Given the description of an element on the screen output the (x, y) to click on. 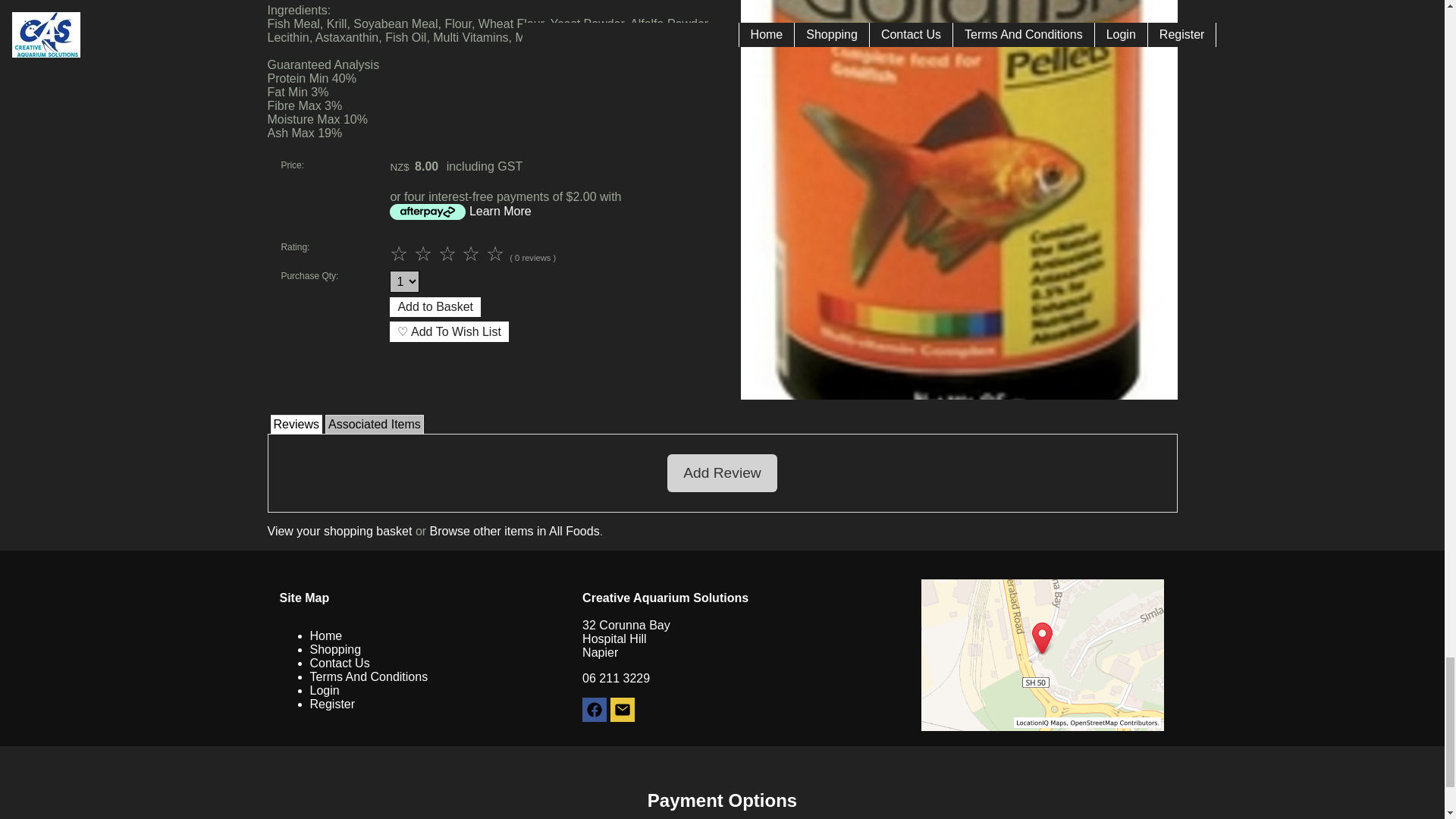
Aqua One Goldfish Pellet Food 2mm 85g (957, 395)
Submit Product Review (449, 253)
32 Corunna Bay ,Hospital Hill Napier  ,New Zealand (1042, 655)
Add to Basket (435, 306)
